Given the description of an element on the screen output the (x, y) to click on. 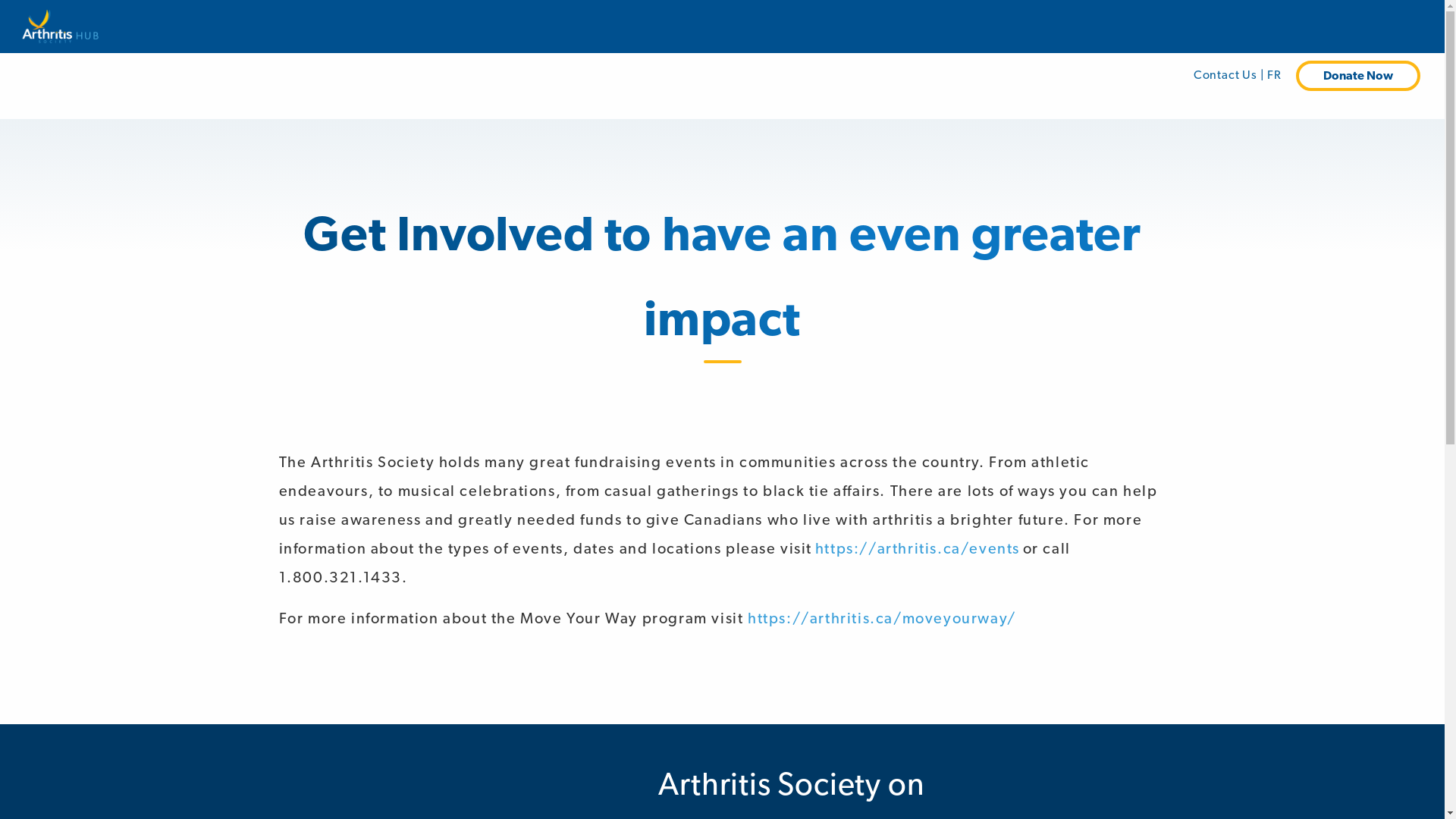
Arthritis Society Element type: text (54, 29)
FR Element type: text (1274, 74)
Contact Us Element type: text (1226, 74)
https://arthritis.ca/moveyourway/ Element type: text (881, 617)
Donate Now Element type: text (1357, 75)
https://arthritis.ca/events Element type: text (917, 548)
